Given the description of an element on the screen output the (x, y) to click on. 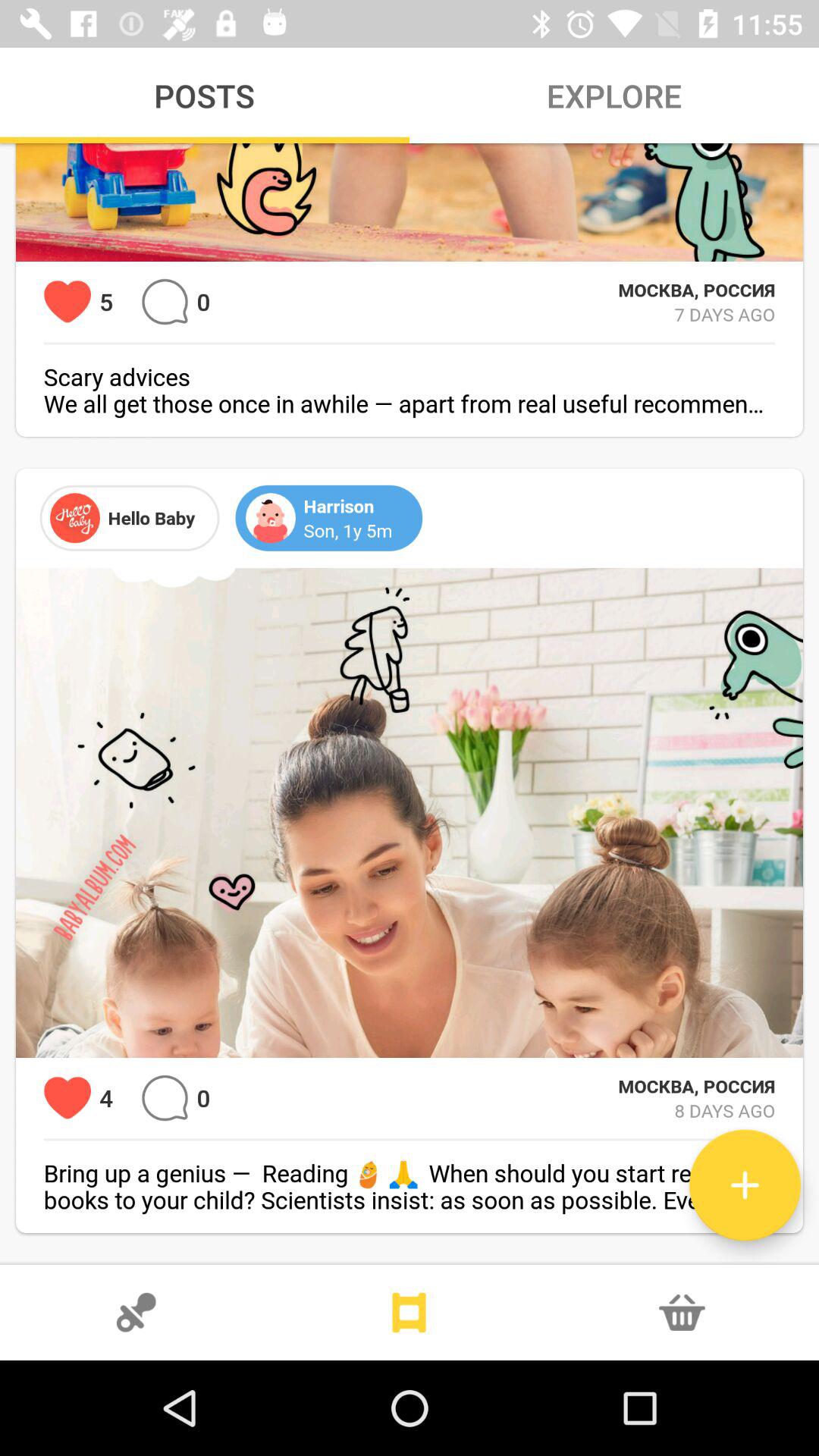
add a comment (164, 1098)
